Given the description of an element on the screen output the (x, y) to click on. 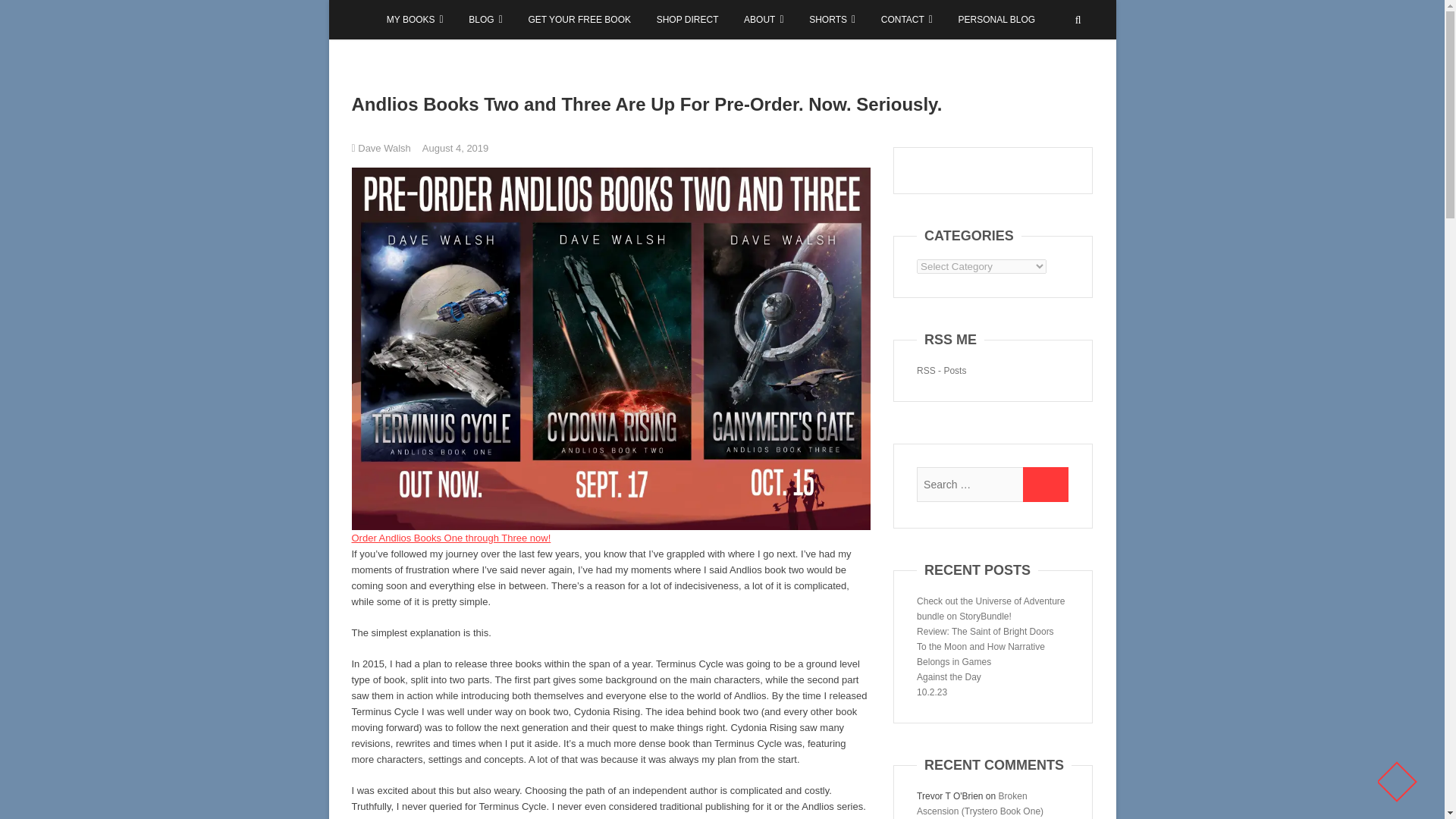
SHORTS (831, 19)
Subscribe to posts (941, 370)
PERSONAL BLOG (996, 19)
GET YOUR FREE BOOK (579, 19)
ABOUT (763, 19)
BLOG (485, 19)
Go to Top (1390, 775)
MY BOOKS (414, 19)
CONTACT (906, 19)
